Given the description of an element on the screen output the (x, y) to click on. 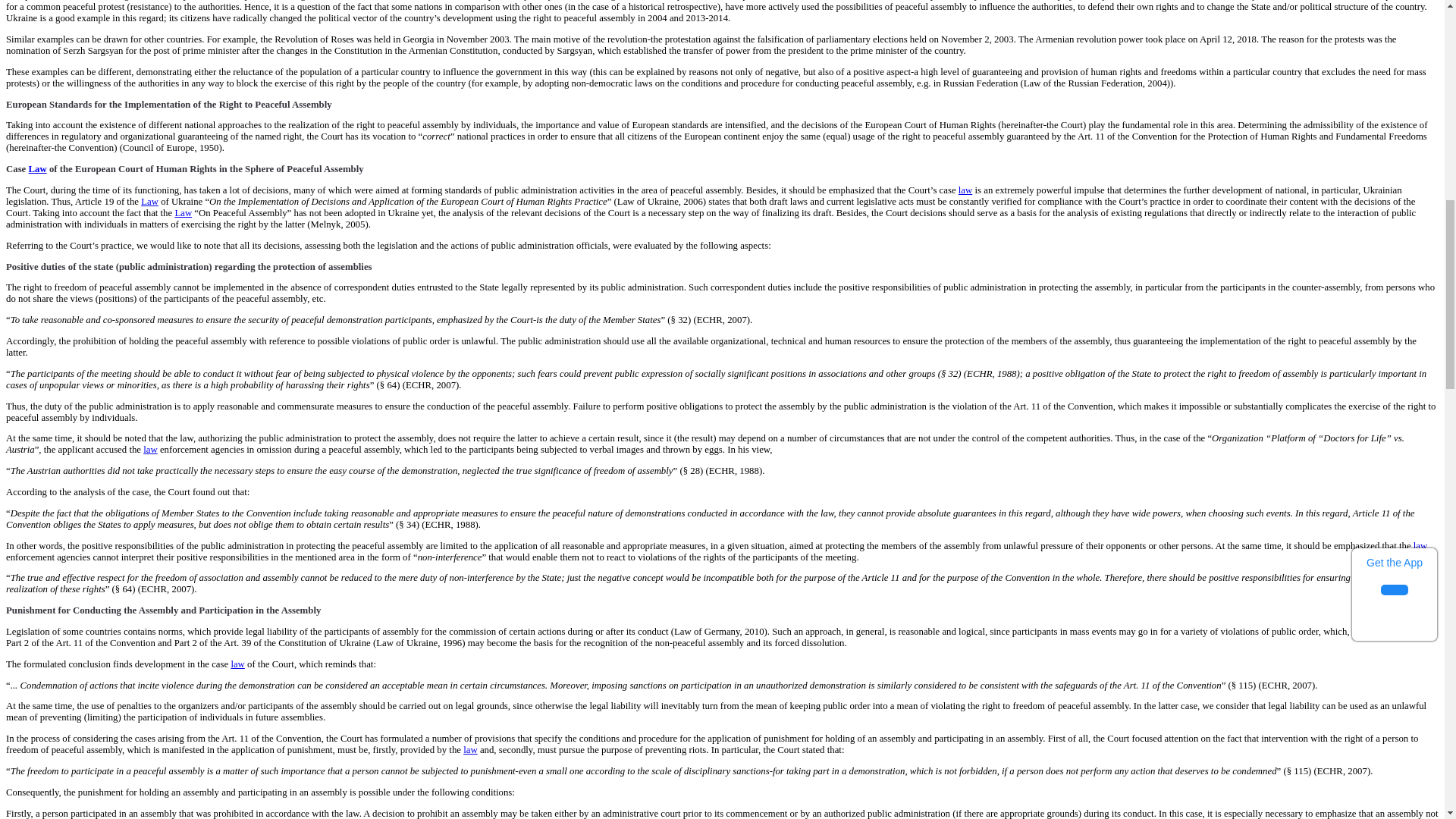
Law (37, 168)
law (1419, 545)
Law (183, 213)
law (149, 449)
law (965, 190)
Law (149, 201)
law (237, 664)
